Given the description of an element on the screen output the (x, y) to click on. 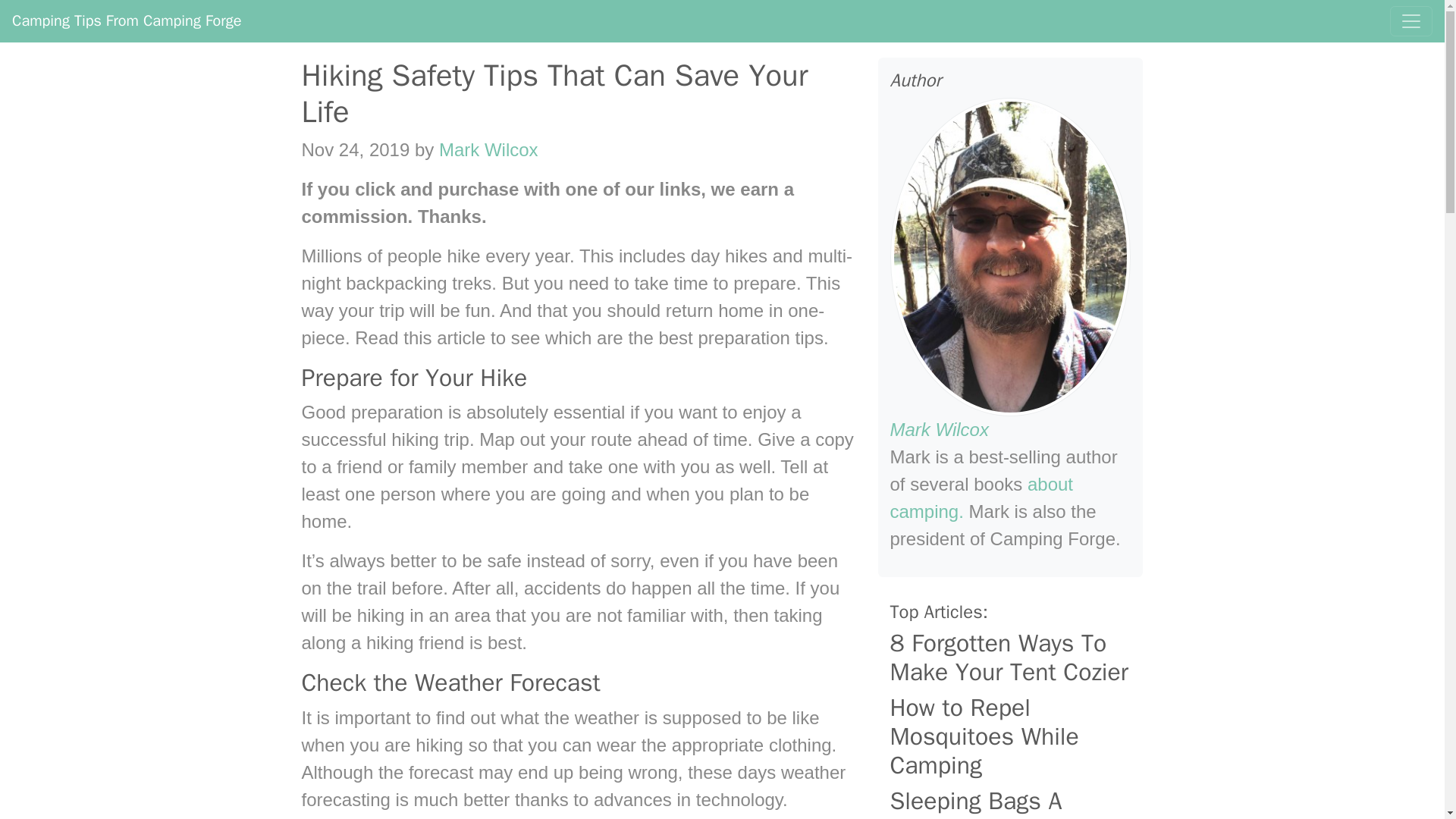
Sleeping Bags A Complete Guide (1010, 803)
Mark Wilcox (488, 149)
Camping Tips From Camping Forge (126, 20)
How to Repel Mosquitoes While Camping (1010, 737)
8 Forgotten Ways To Make Your Tent Cozier (1010, 658)
Mark Wilcox (938, 429)
about camping. (981, 497)
